Given the description of an element on the screen output the (x, y) to click on. 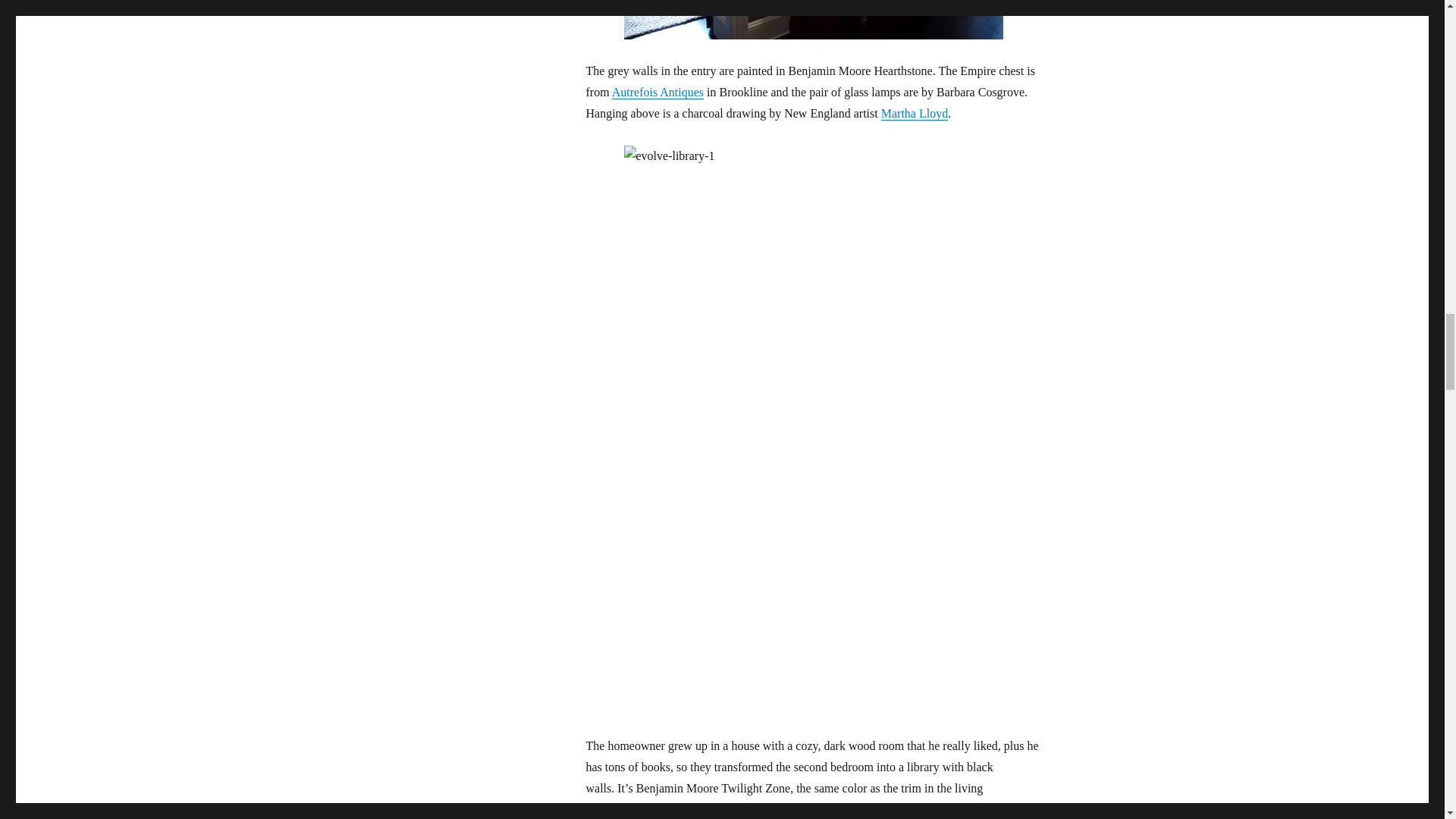
Martha Lloyd (913, 113)
Autrefois Antiques (657, 91)
Kidder Blaisdell Woodworks (687, 809)
